Given the description of an element on the screen output the (x, y) to click on. 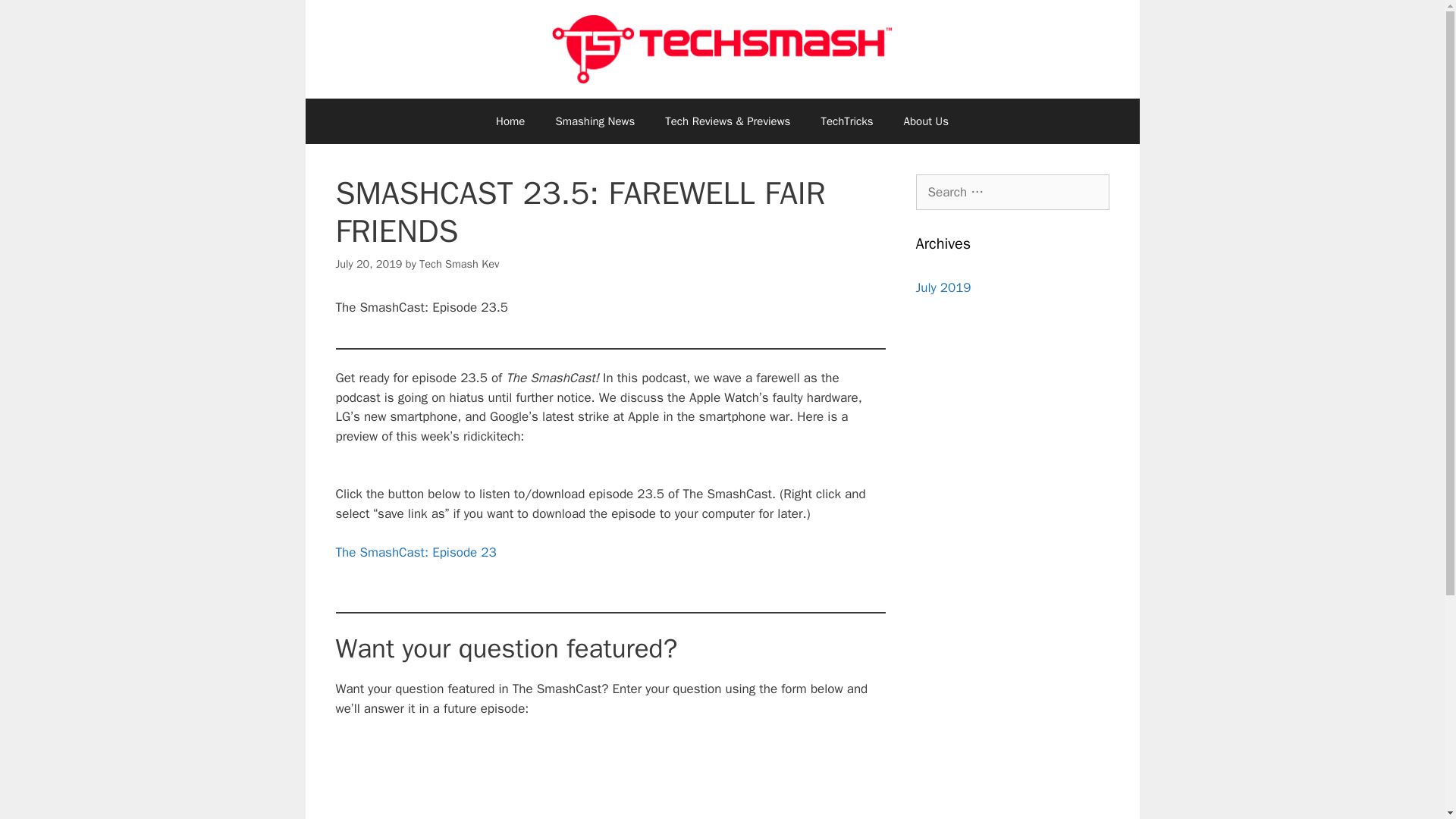
Search (35, 18)
Smashing News (594, 121)
The SmashCast: Episode 23 (415, 552)
Search for: (1012, 192)
July 2019 (943, 287)
TechTricks (846, 121)
About Us (925, 121)
Home (510, 121)
Tech Smash Kev (459, 264)
View all posts by Tech Smash Kev (459, 264)
